Given the description of an element on the screen output the (x, y) to click on. 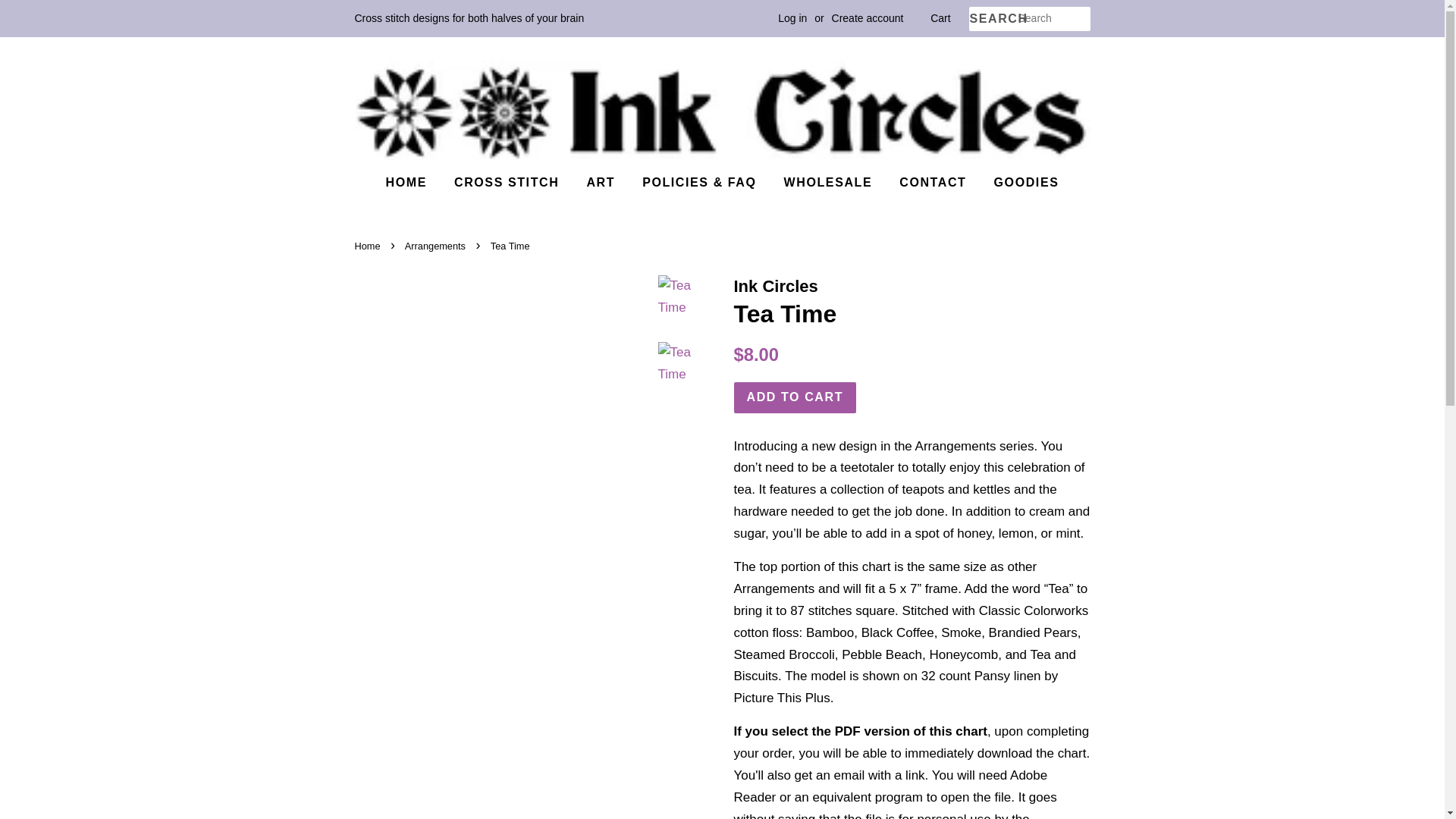
Home (369, 245)
Cross stitch designs for both halves of your brain (470, 18)
HOME (411, 181)
ART (600, 181)
Cart (940, 18)
GOODIES (1020, 181)
Create account (867, 18)
ADD TO CART (795, 397)
CONTACT (932, 181)
Back to the frontpage (369, 245)
